Given the description of an element on the screen output the (x, y) to click on. 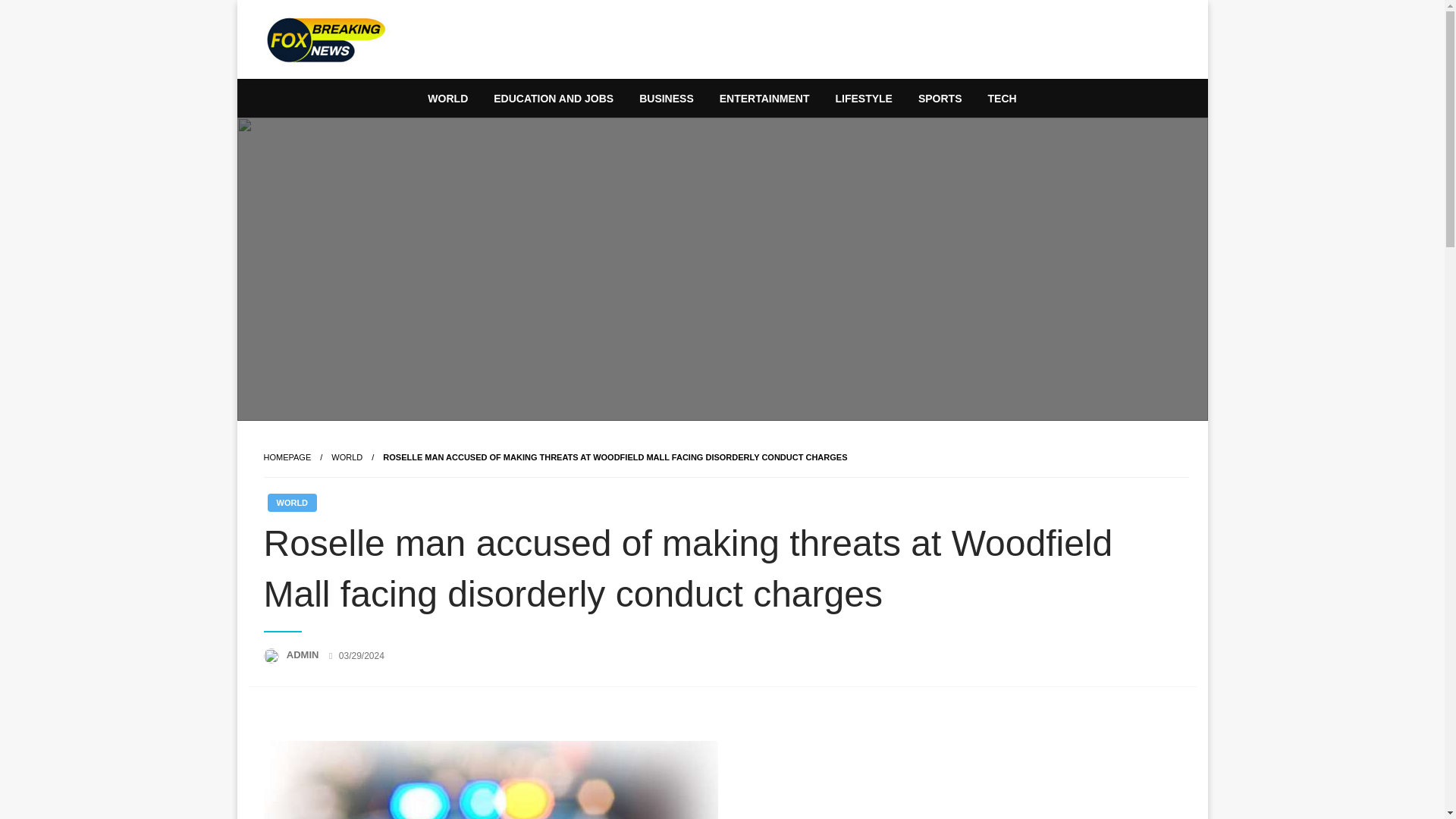
LIFESTYLE (863, 98)
BUSINESS (666, 98)
World (346, 456)
SPORTS (940, 98)
ADMIN (303, 654)
Homepage (287, 456)
WORLD (346, 456)
TECH (1002, 98)
ENTERTAINMENT (764, 98)
HOMEPAGE (287, 456)
